Given the description of an element on the screen output the (x, y) to click on. 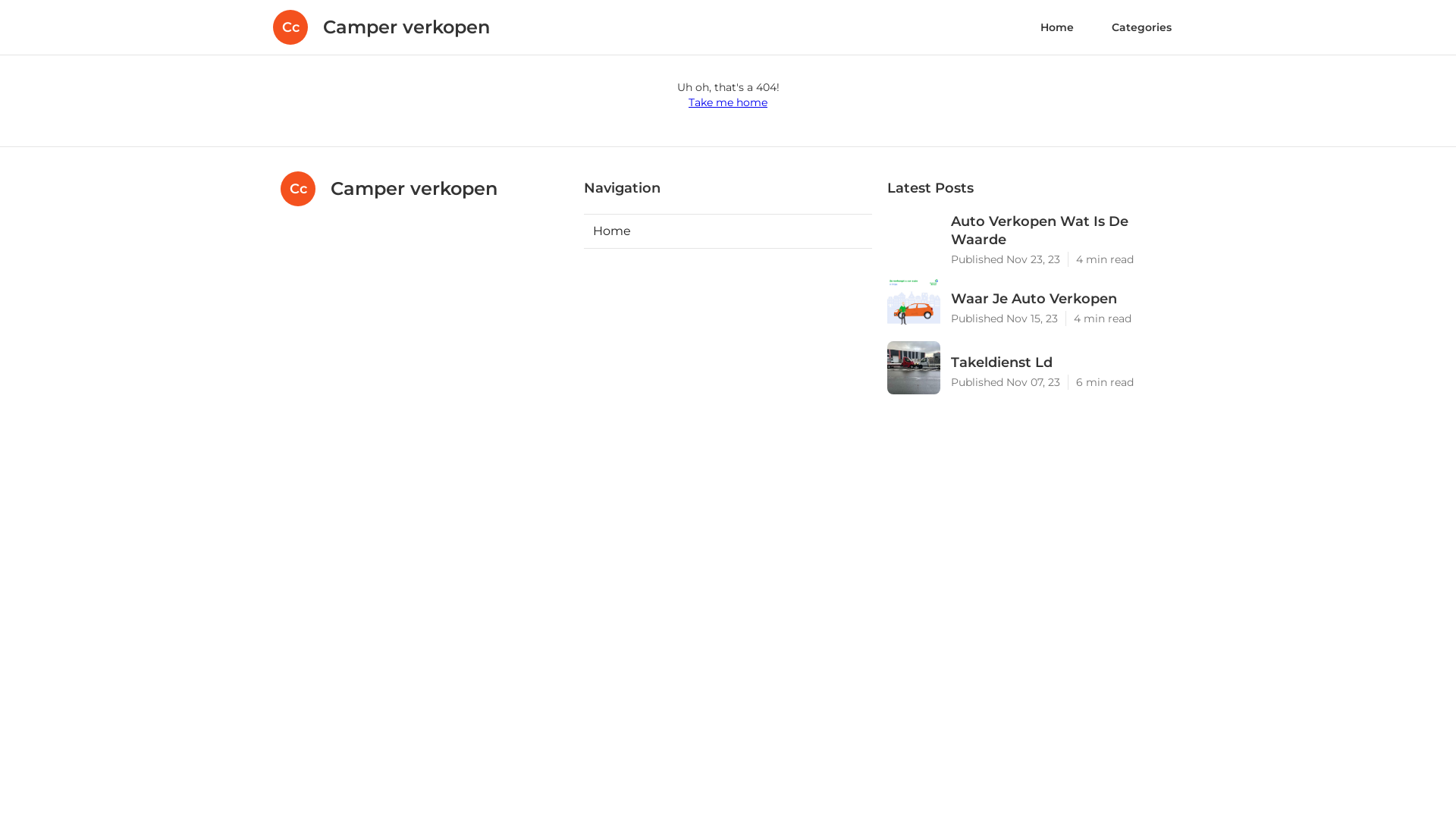
Auto Verkopen Wat Is De Waarde Element type: text (1062, 230)
Take me home Element type: text (727, 101)
Home Element type: text (1057, 26)
Home Element type: text (727, 230)
Waar Je Auto Verkopen Element type: text (1062, 298)
Categories Element type: text (1141, 26)
Takeldienst Ld Element type: text (1062, 362)
